Given the description of an element on the screen output the (x, y) to click on. 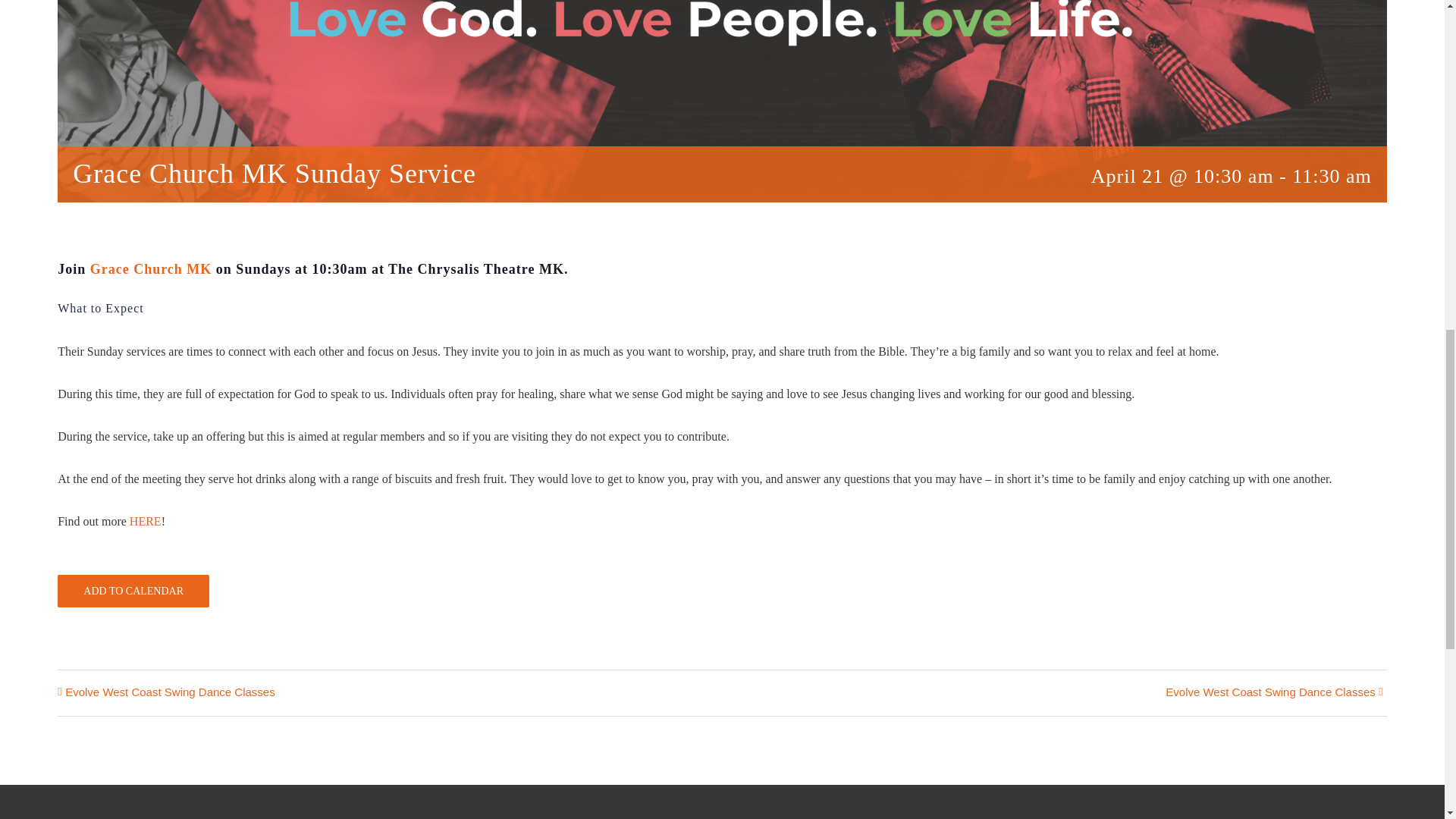
ADD TO CALENDAR (132, 590)
HERE (145, 521)
Grace Church MK (151, 268)
